Given the description of an element on the screen output the (x, y) to click on. 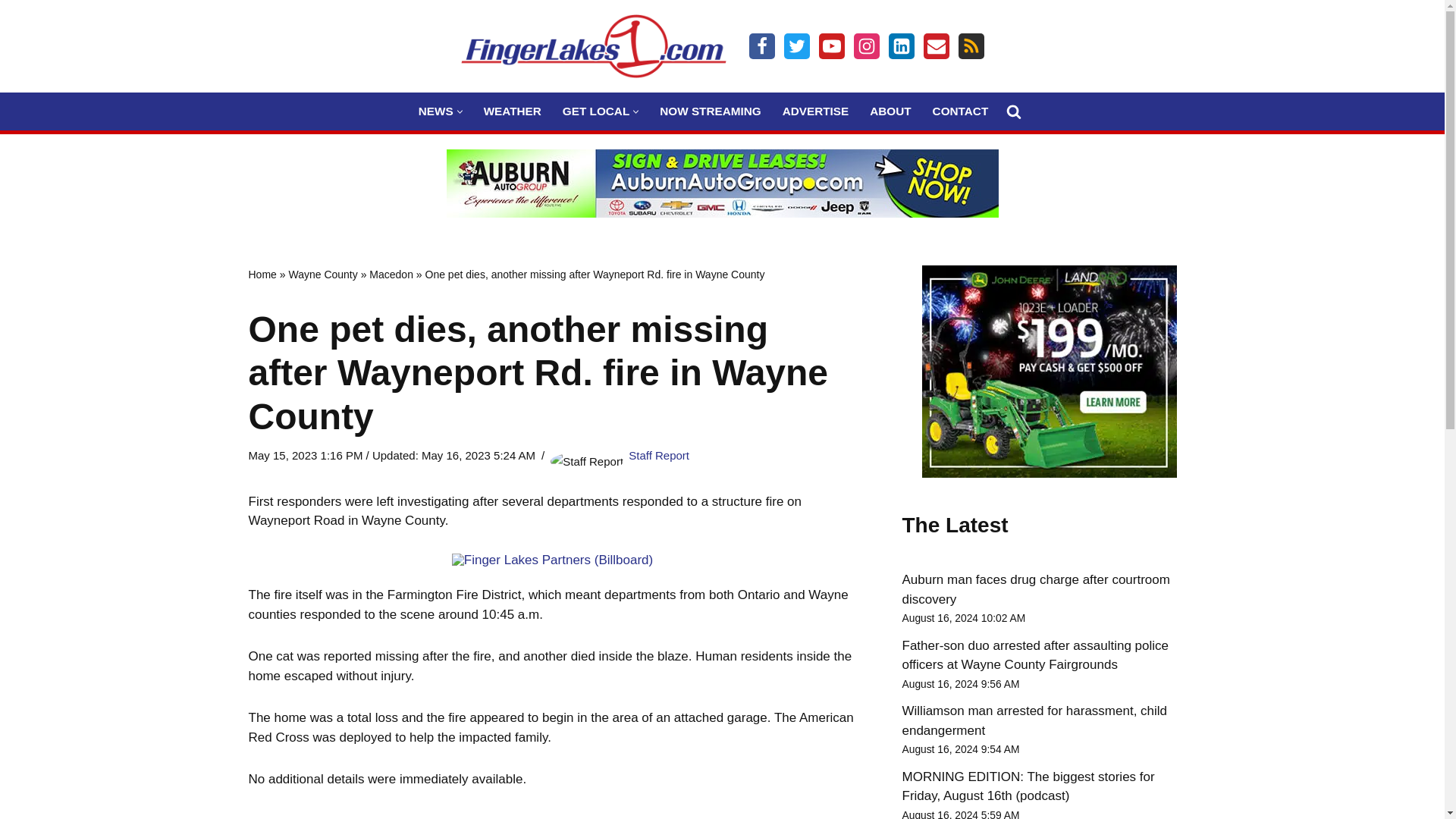
Twitter (796, 45)
Feed (971, 45)
LinkIn (901, 45)
NEWS (435, 111)
WEATHER (512, 111)
GET LOCAL (595, 111)
CONTACT (960, 111)
Email Us (936, 45)
NOW STREAMING (709, 111)
Facebook (761, 45)
